Given the description of an element on the screen output the (x, y) to click on. 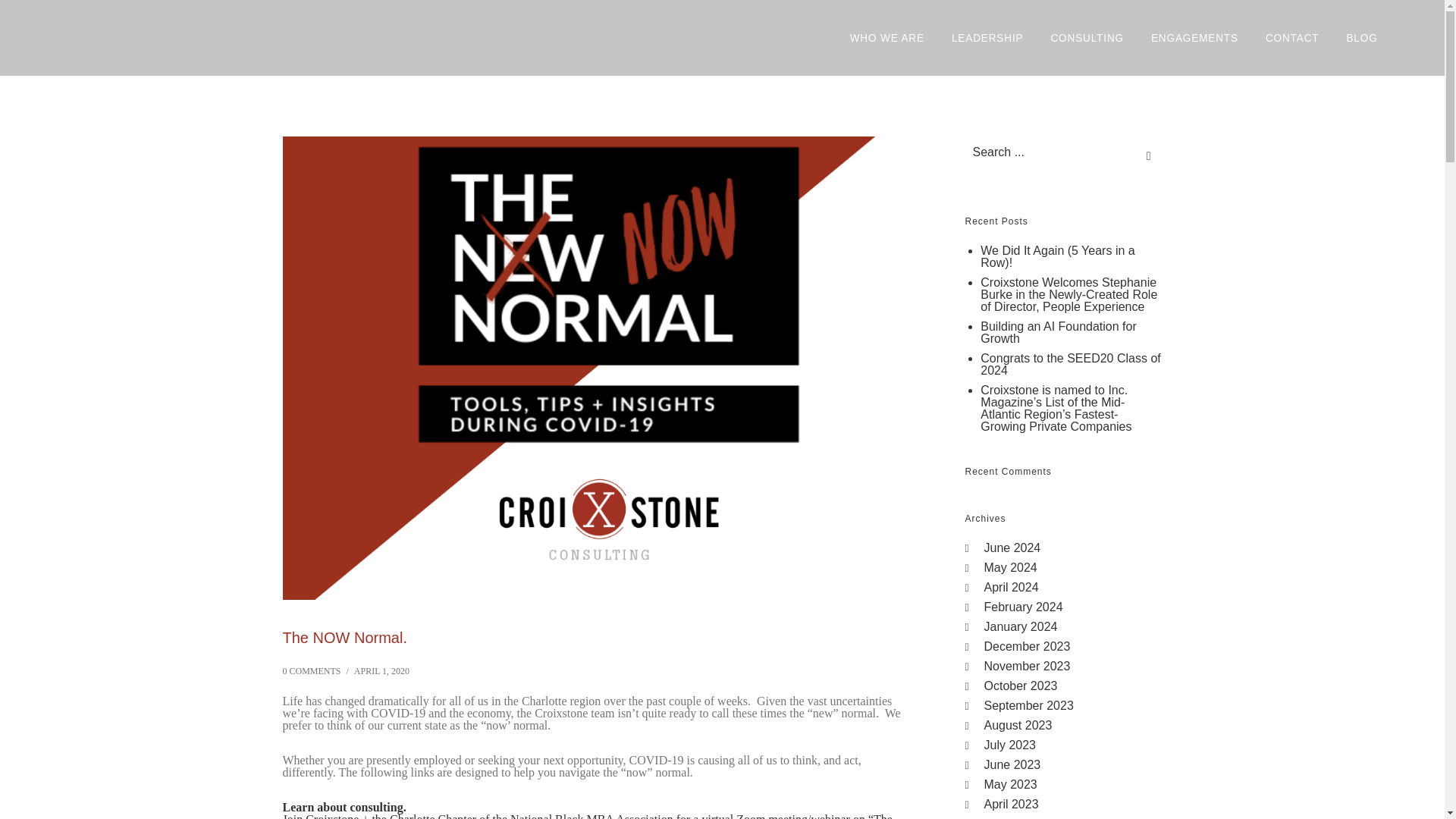
Consulting (1092, 37)
Who We Are (892, 37)
Blog (1364, 37)
The NOW Normal. (344, 637)
BLOG (1364, 37)
CONSULTING (1092, 37)
LEADERSHIP (992, 37)
WHO WE ARE (892, 37)
Contact (1296, 37)
Engagements (1201, 37)
Leadership (992, 37)
CONTACT (1296, 37)
ENGAGEMENTS (1201, 37)
0 COMMENTS (311, 670)
